Given the description of an element on the screen output the (x, y) to click on. 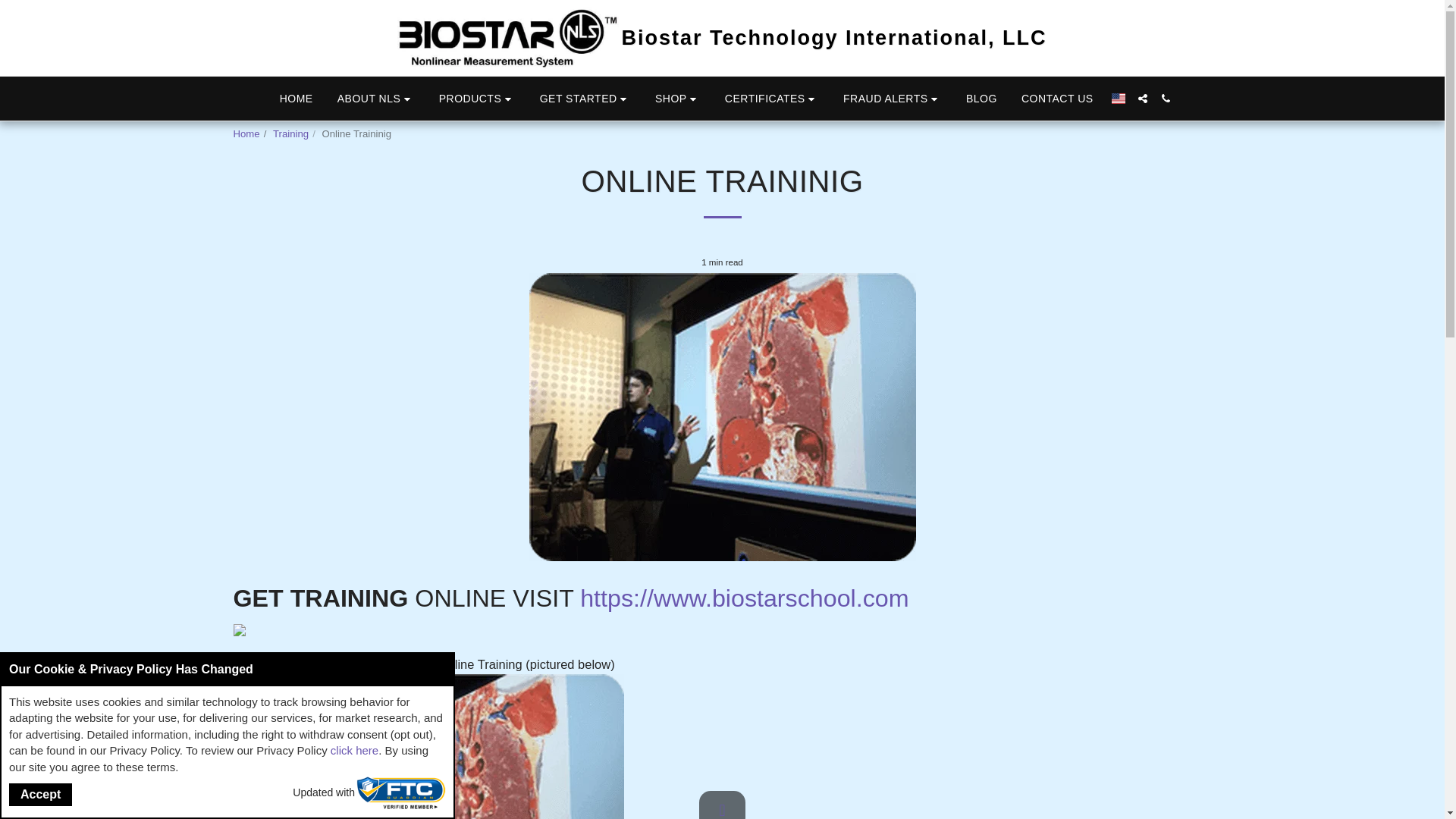
HOME (295, 97)
SHOP   (677, 98)
CERTIFICATES   (771, 98)
PRODUCTS   (477, 98)
GET STARTED   (585, 98)
FRAUD ALERTS   (892, 98)
CONTACT US (1057, 97)
ABOUT NLS   (376, 98)
BLOG (982, 97)
Biostar Technology International, LLC (721, 38)
